Given the description of an element on the screen output the (x, y) to click on. 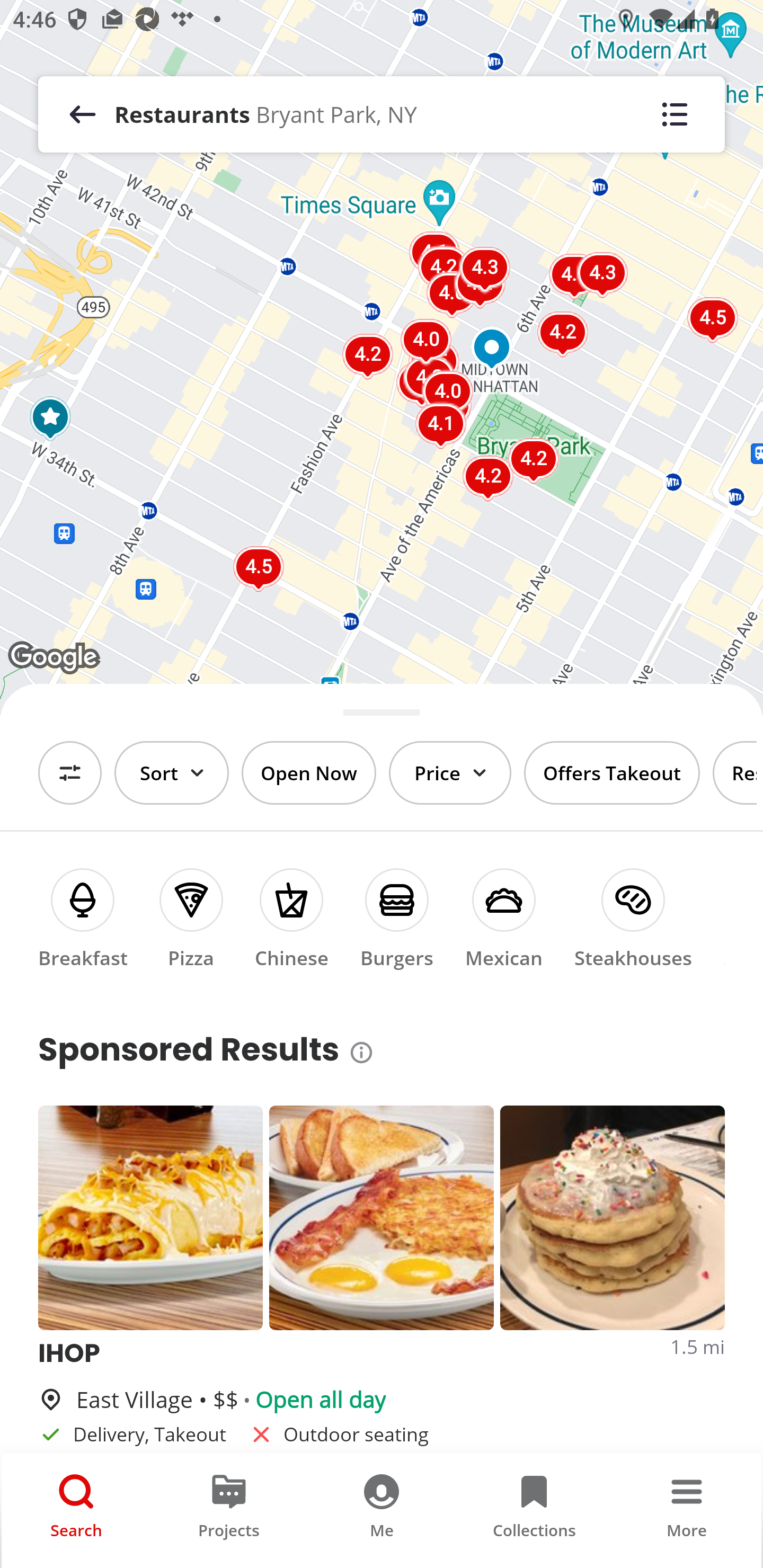
Sort (171, 772)
